Given the description of an element on the screen output the (x, y) to click on. 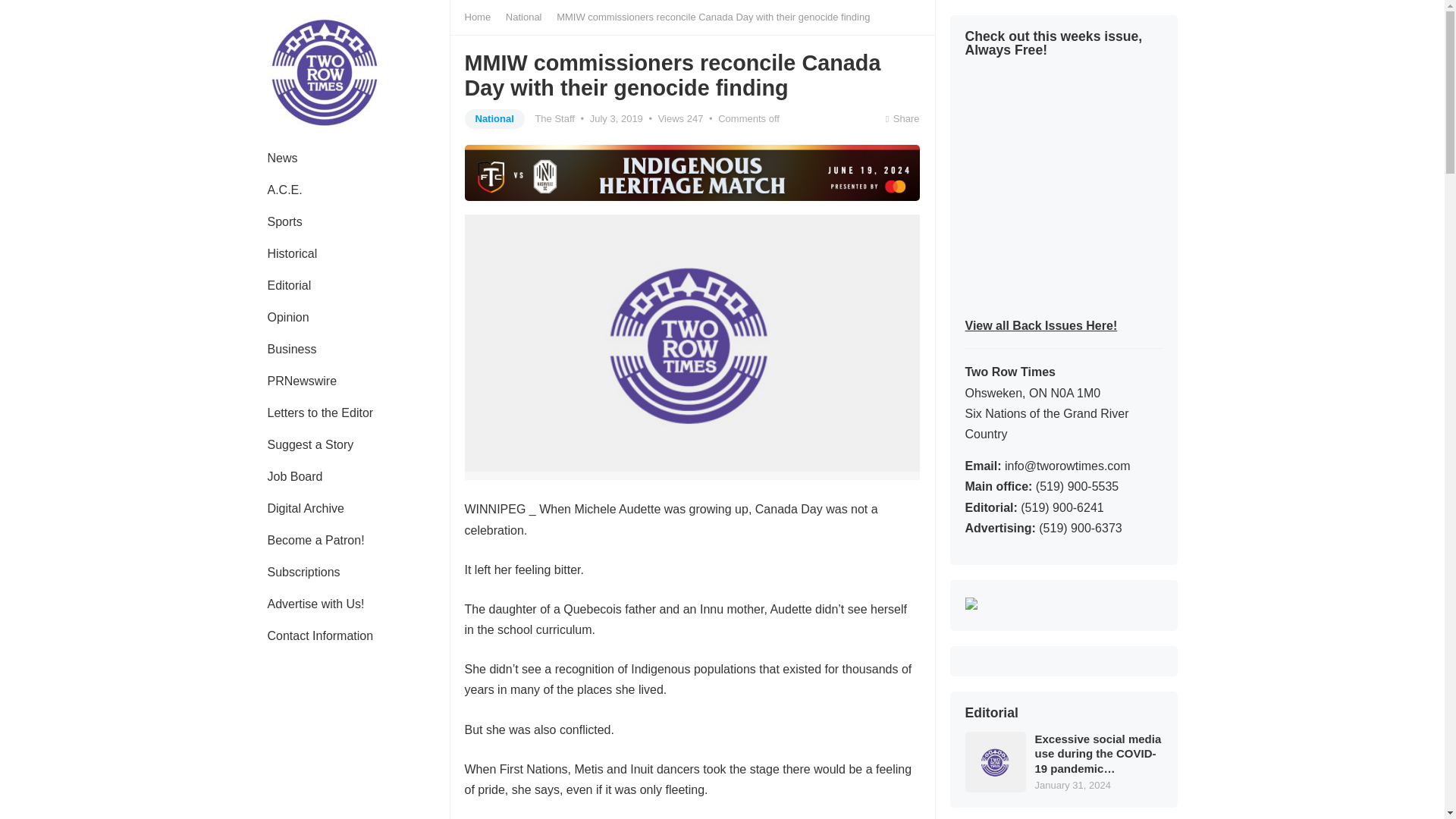
Subscriptions (303, 572)
Sports (284, 222)
Opinion (287, 317)
Job Board (294, 477)
Digital Archive (304, 508)
A.C.E. (284, 190)
Contact Information (319, 635)
News (282, 158)
Business (291, 349)
Home (482, 16)
